Given the description of an element on the screen output the (x, y) to click on. 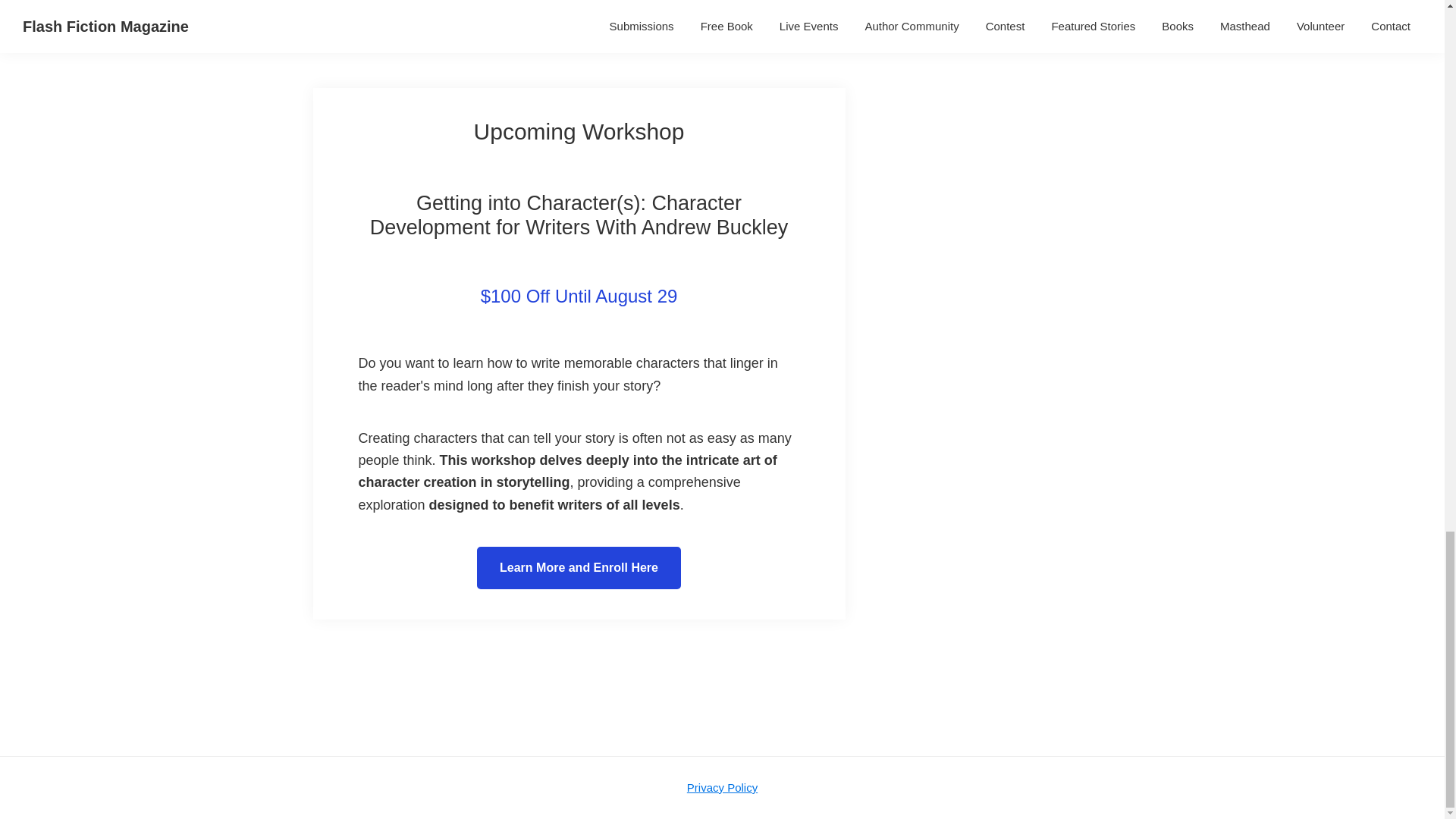
Learn More and Enroll Here (579, 567)
CLICK TO TWEET (774, 8)
Privacy Policy (722, 787)
